Given the description of an element on the screen output the (x, y) to click on. 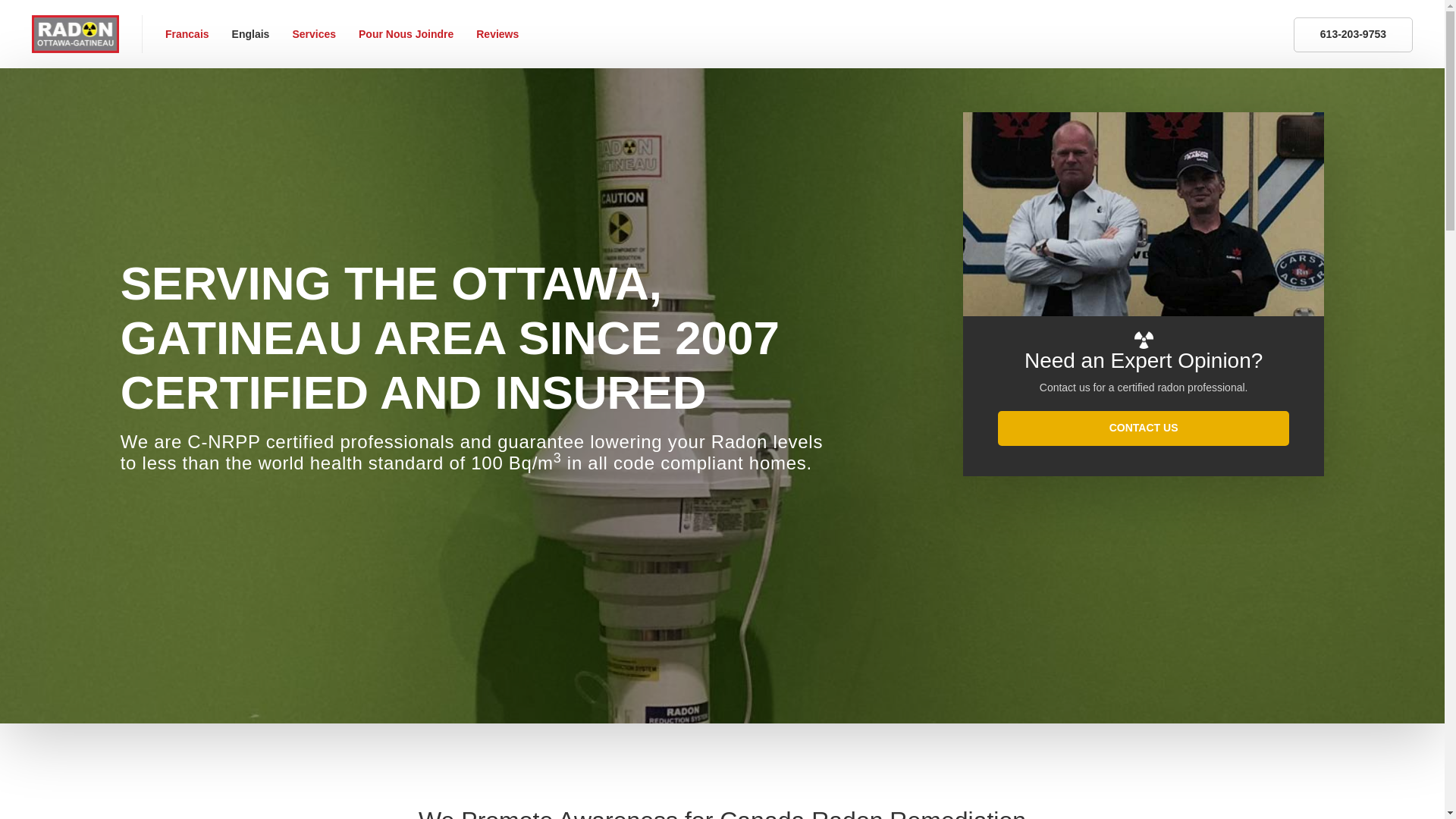
Reviews (496, 34)
CONTACT US (1142, 784)
613-203-9753 (1353, 34)
Pour Nous Joindre (405, 34)
Radon Ottawa Gatineau (75, 33)
Francais (187, 34)
Services (314, 34)
Englais (251, 34)
